Given the description of an element on the screen output the (x, y) to click on. 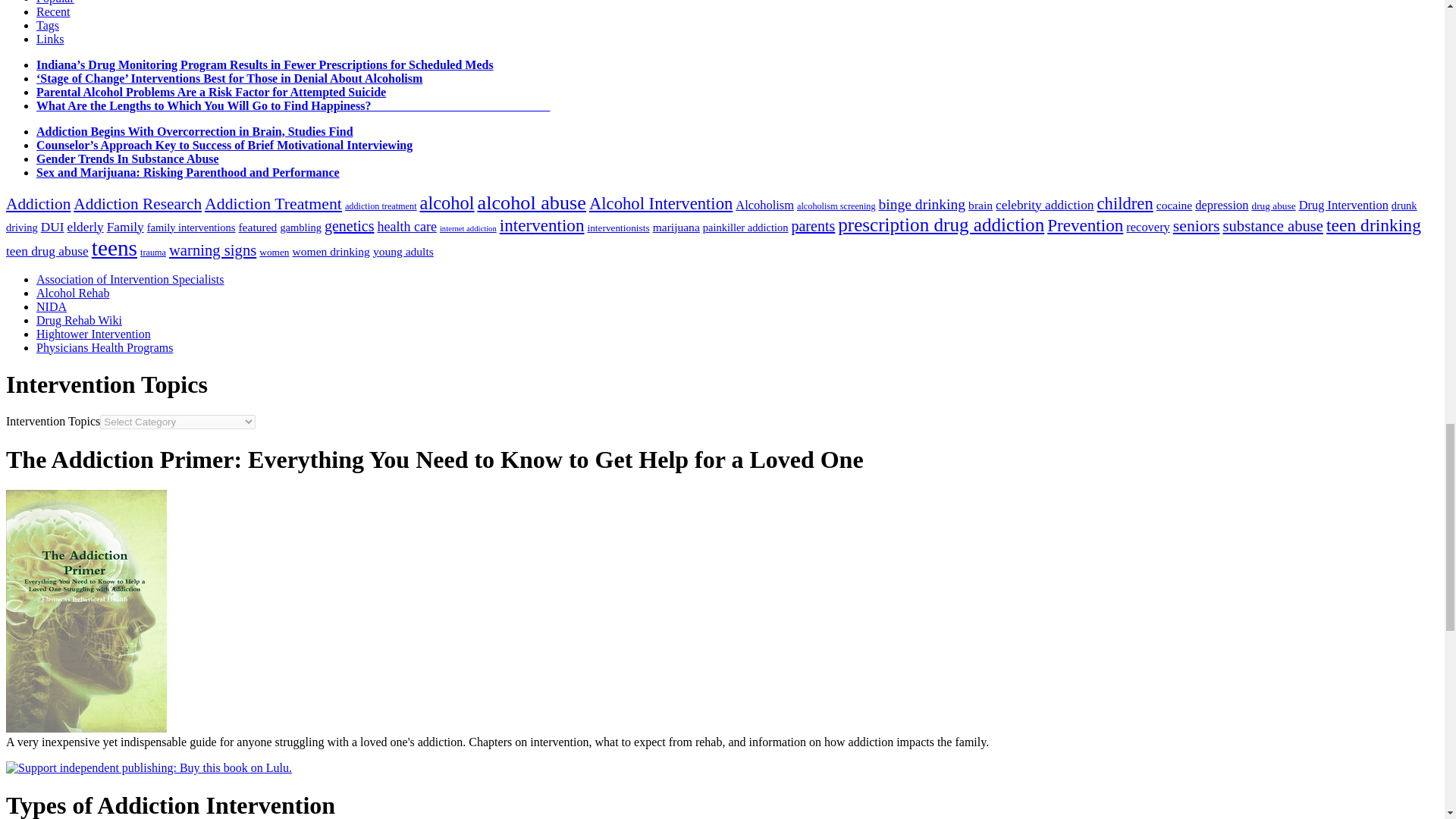
Gender Trends In Substance Abuse (127, 158)
board certified  interventionists (130, 278)
Sex and Marijuana: Risking Parenthood and Performance (187, 172)
Addiction interventionist Earl Hightower (93, 333)
addiction treatment for dr (104, 347)
Information on alcohol rehabilitation (72, 292)
National Institute on Drug Abuse (51, 306)
